Given the description of an element on the screen output the (x, y) to click on. 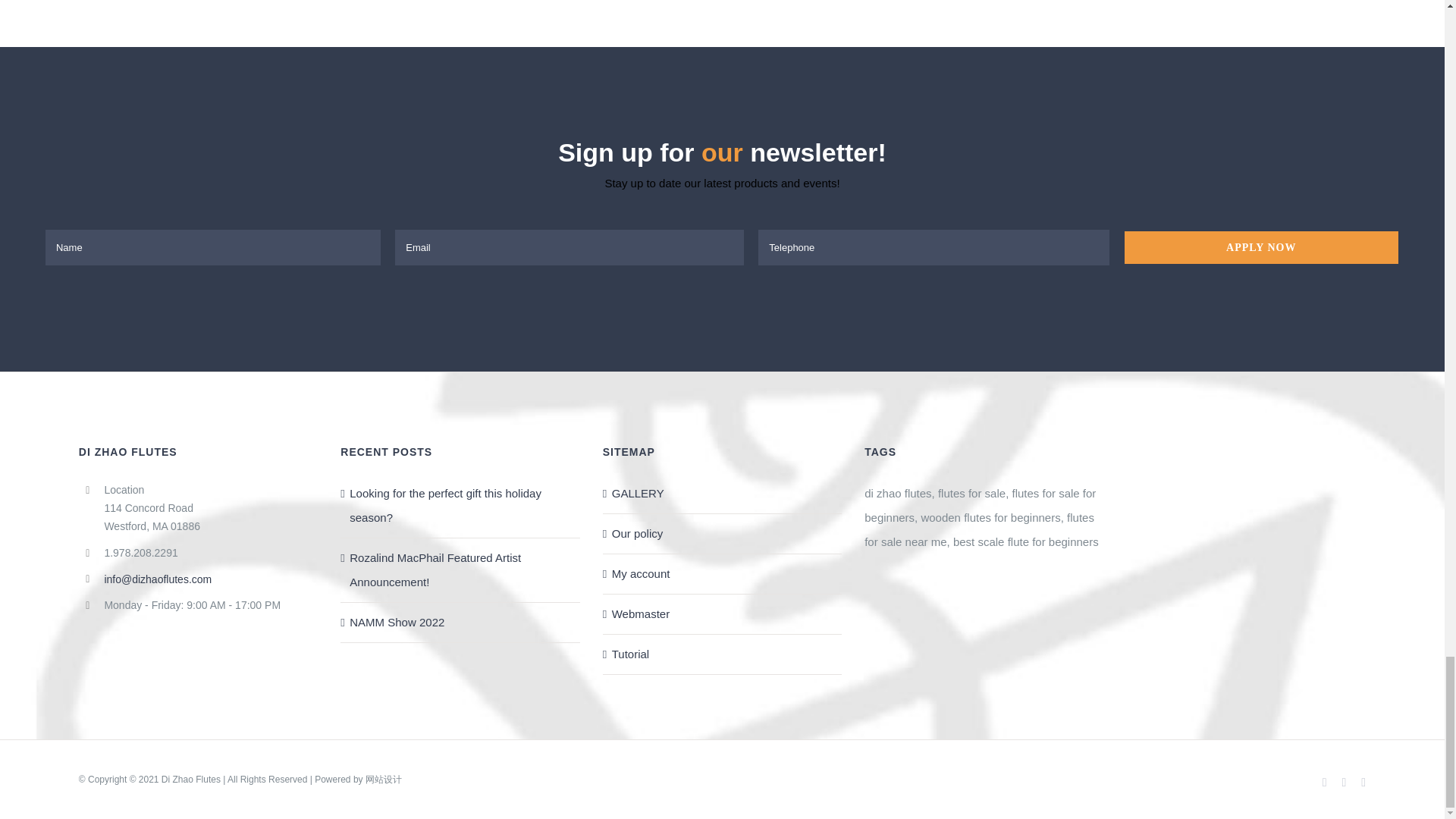
APPLY NOW (722, 247)
